Given the description of an element on the screen output the (x, y) to click on. 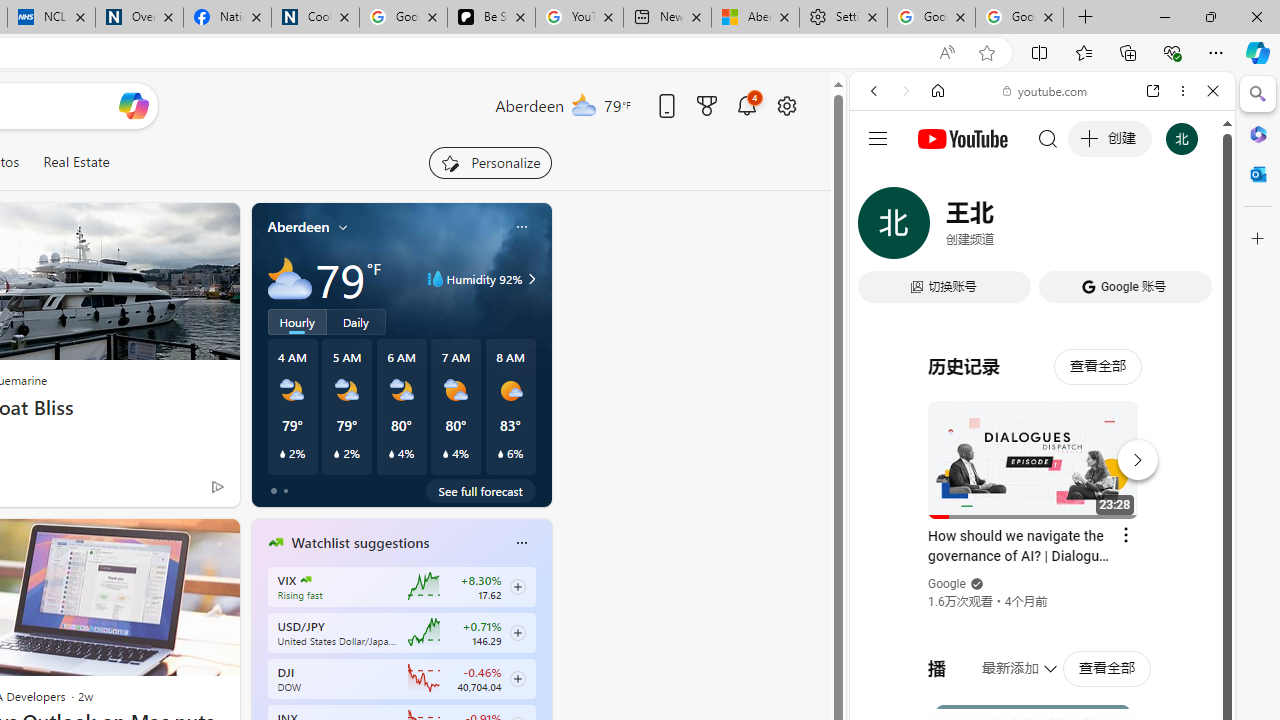
next (541, 670)
Cookies (315, 17)
Mostly cloudy (289, 278)
CBOE Market Volatility Index (306, 579)
New tab (666, 17)
youtube.com (1046, 90)
See full forecast (480, 490)
See more (214, 542)
